Given the description of an element on the screen output the (x, y) to click on. 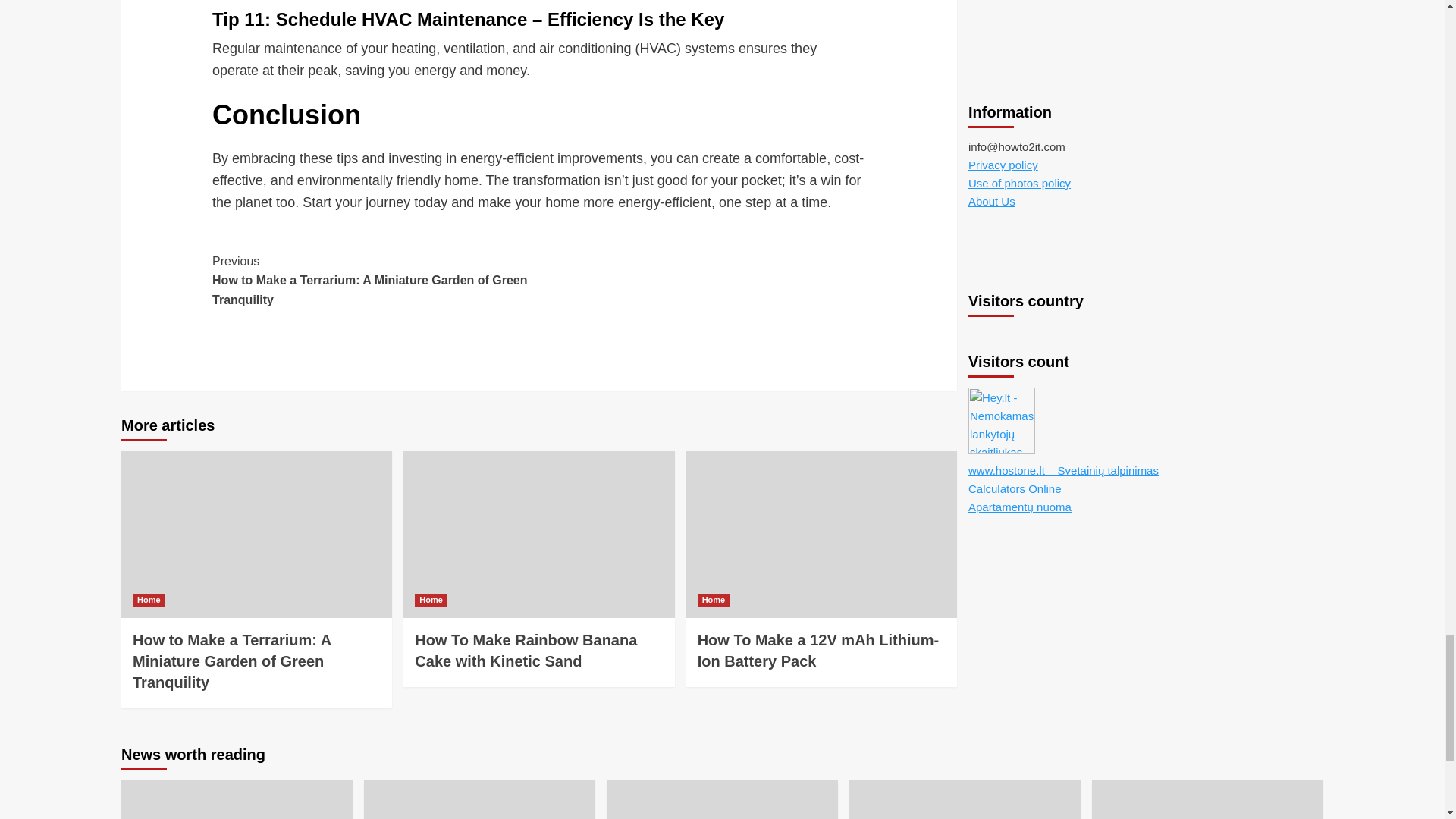
Home (430, 599)
Home (713, 599)
Home (148, 599)
How To Make Rainbow Banana Cake with Kinetic Sand (525, 650)
How To Make a 12V mAh Lithium-Ion Battery Pack (818, 650)
